Given the description of an element on the screen output the (x, y) to click on. 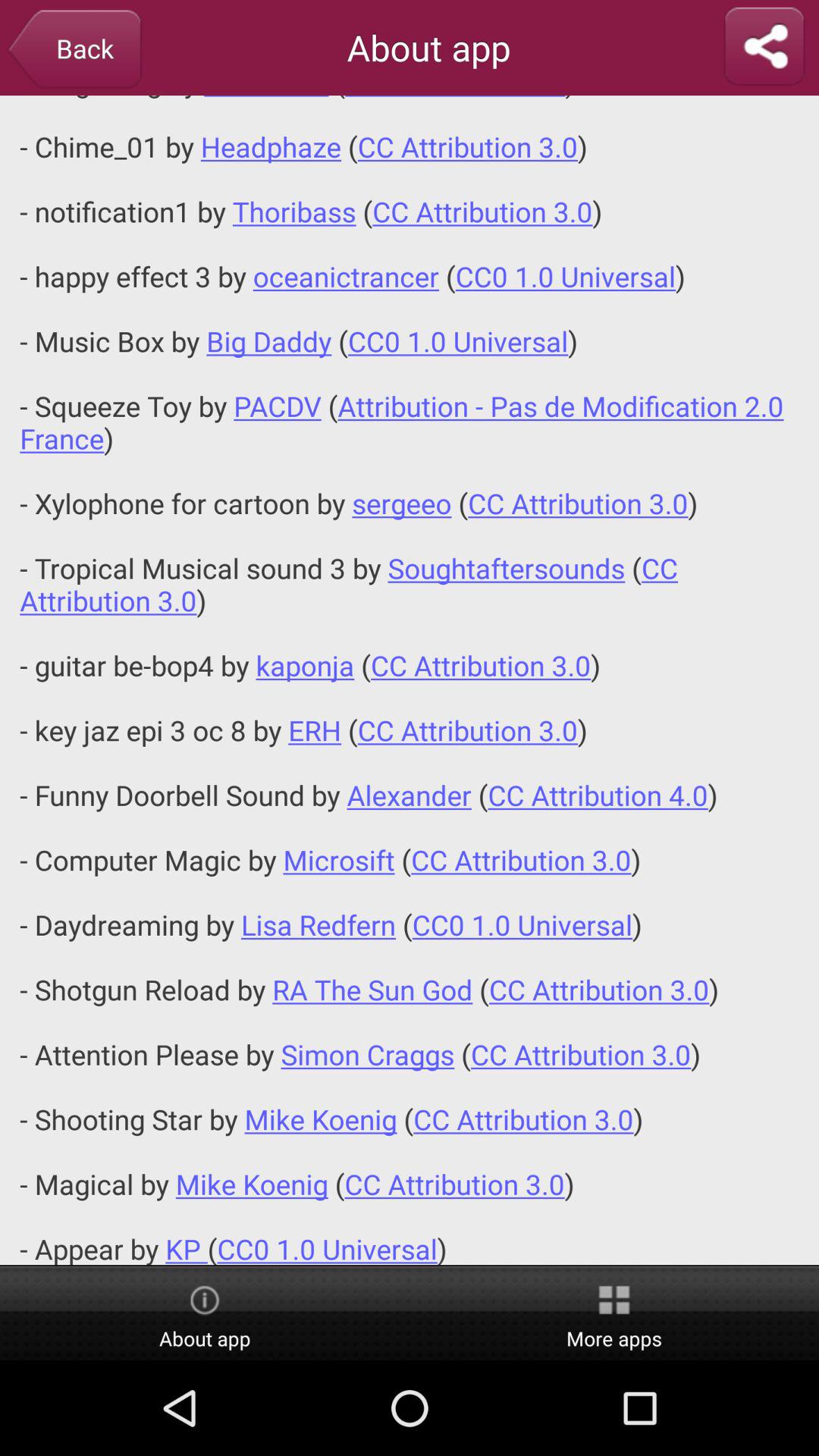
click more apps item (614, 1314)
